Given the description of an element on the screen output the (x, y) to click on. 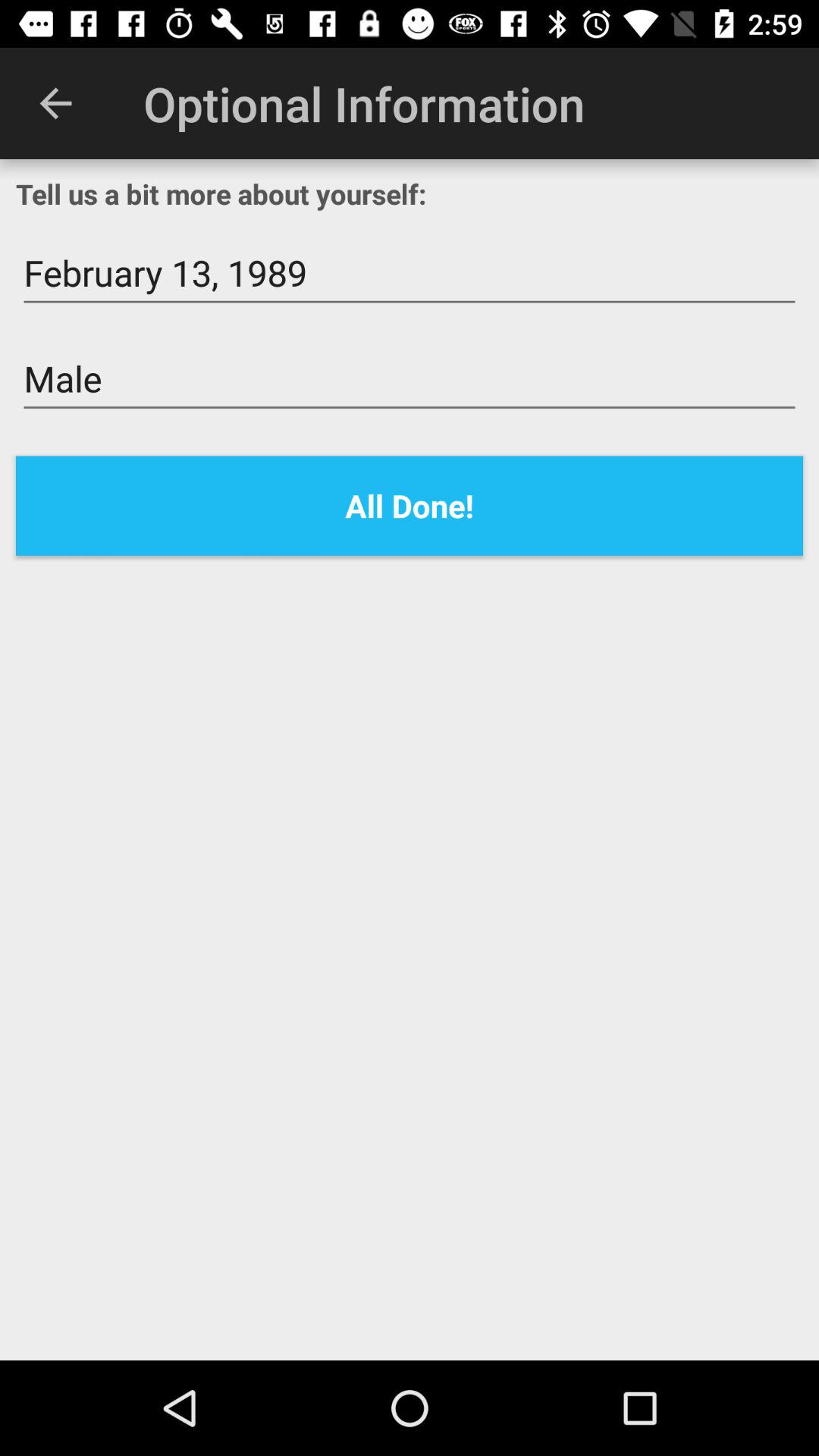
choose icon next to optional information (55, 103)
